Given the description of an element on the screen output the (x, y) to click on. 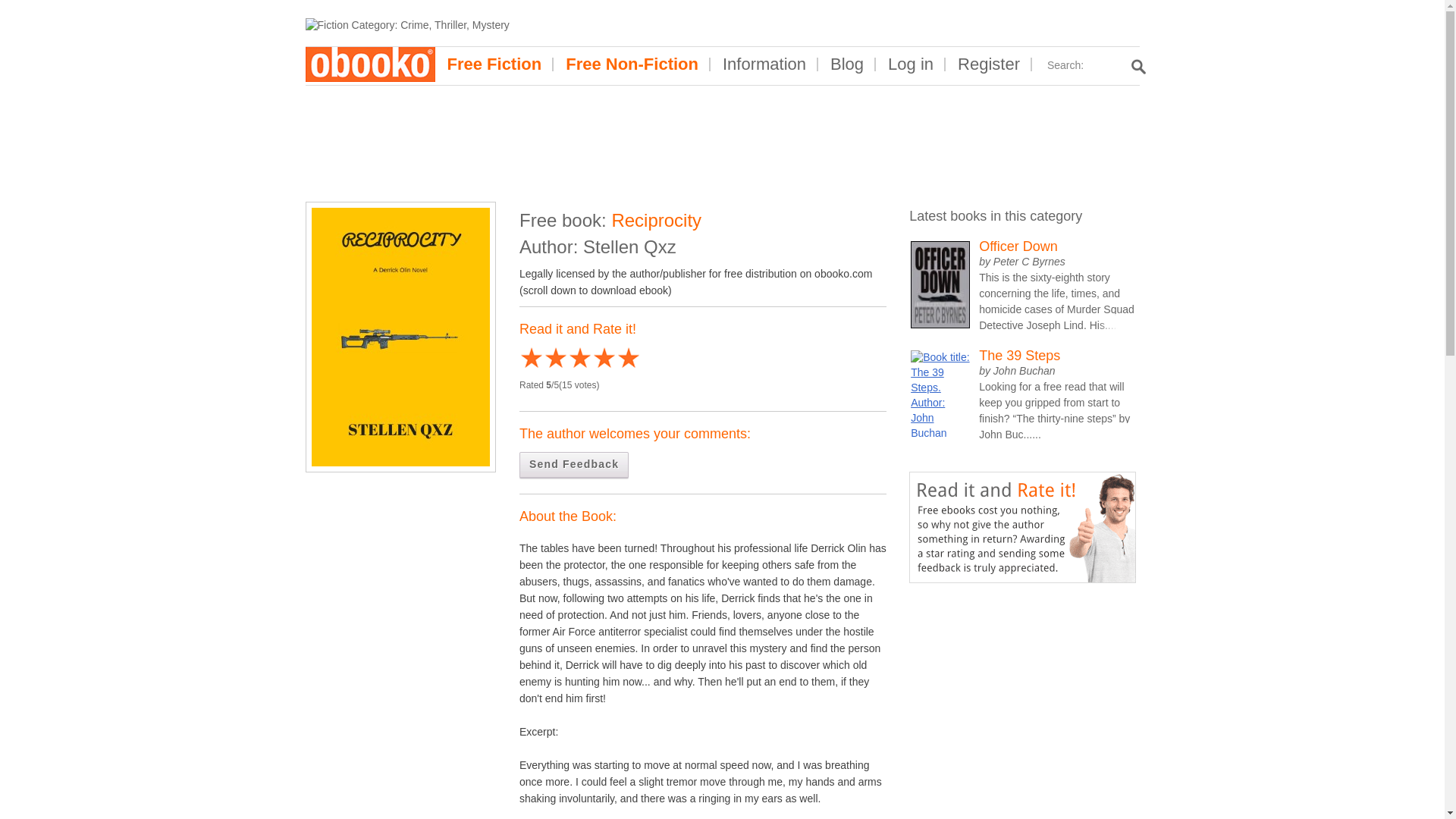
5 stars out of 5 (579, 359)
Log in (910, 63)
Free Fiction (494, 63)
3 (555, 359)
1 (531, 359)
Send Feedback (573, 465)
Send Feedback (573, 465)
Blog (847, 63)
Free Non-Fiction (631, 63)
Information (764, 63)
1 star out of 5 (531, 359)
Register (988, 63)
2 (543, 359)
5 (579, 359)
2 stars out of 5 (543, 359)
